Given the description of an element on the screen output the (x, y) to click on. 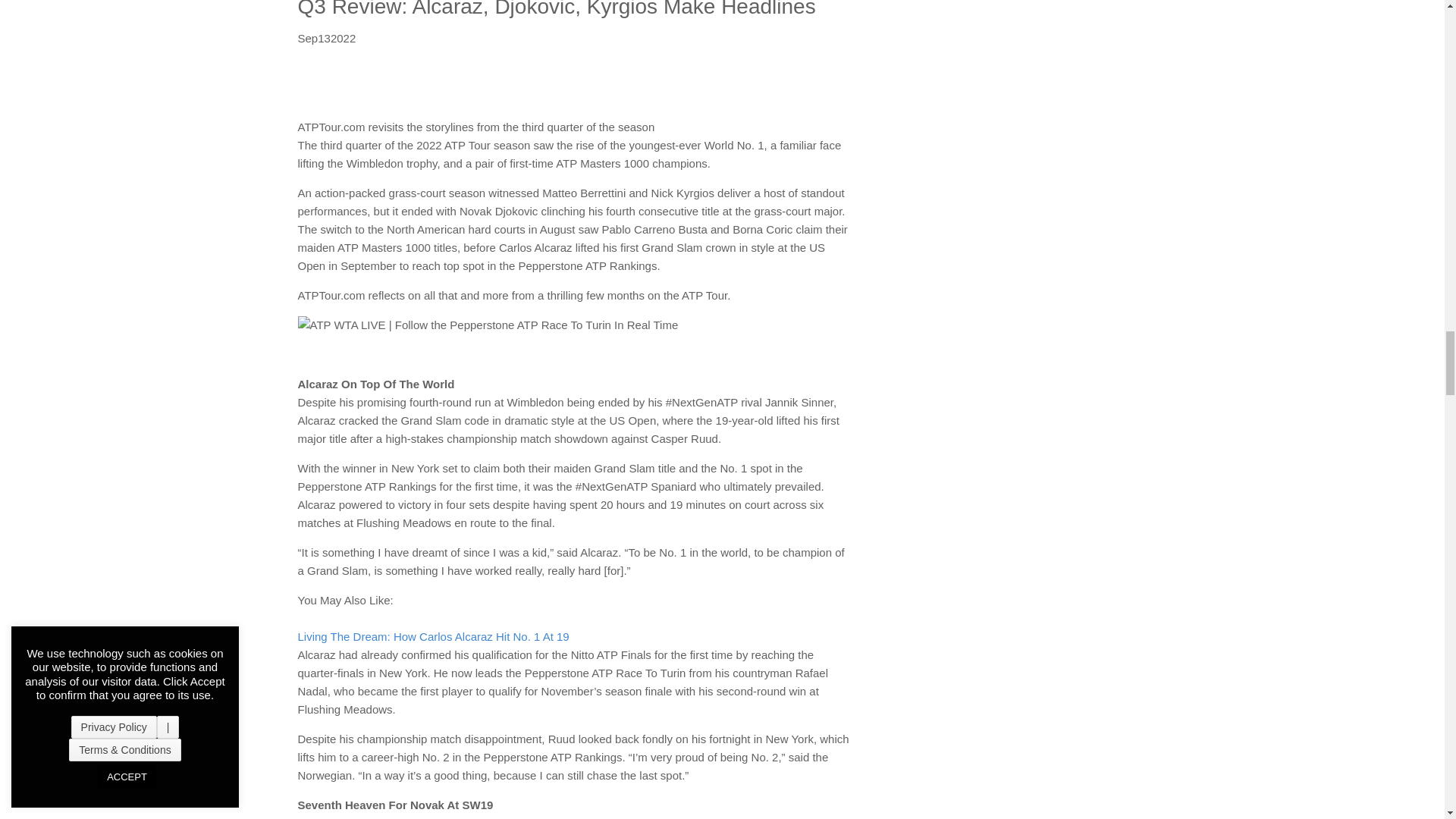
Living The Dream: How Carlos Alcaraz Hit No. 1 At 19 (433, 644)
